Given the description of an element on the screen output the (x, y) to click on. 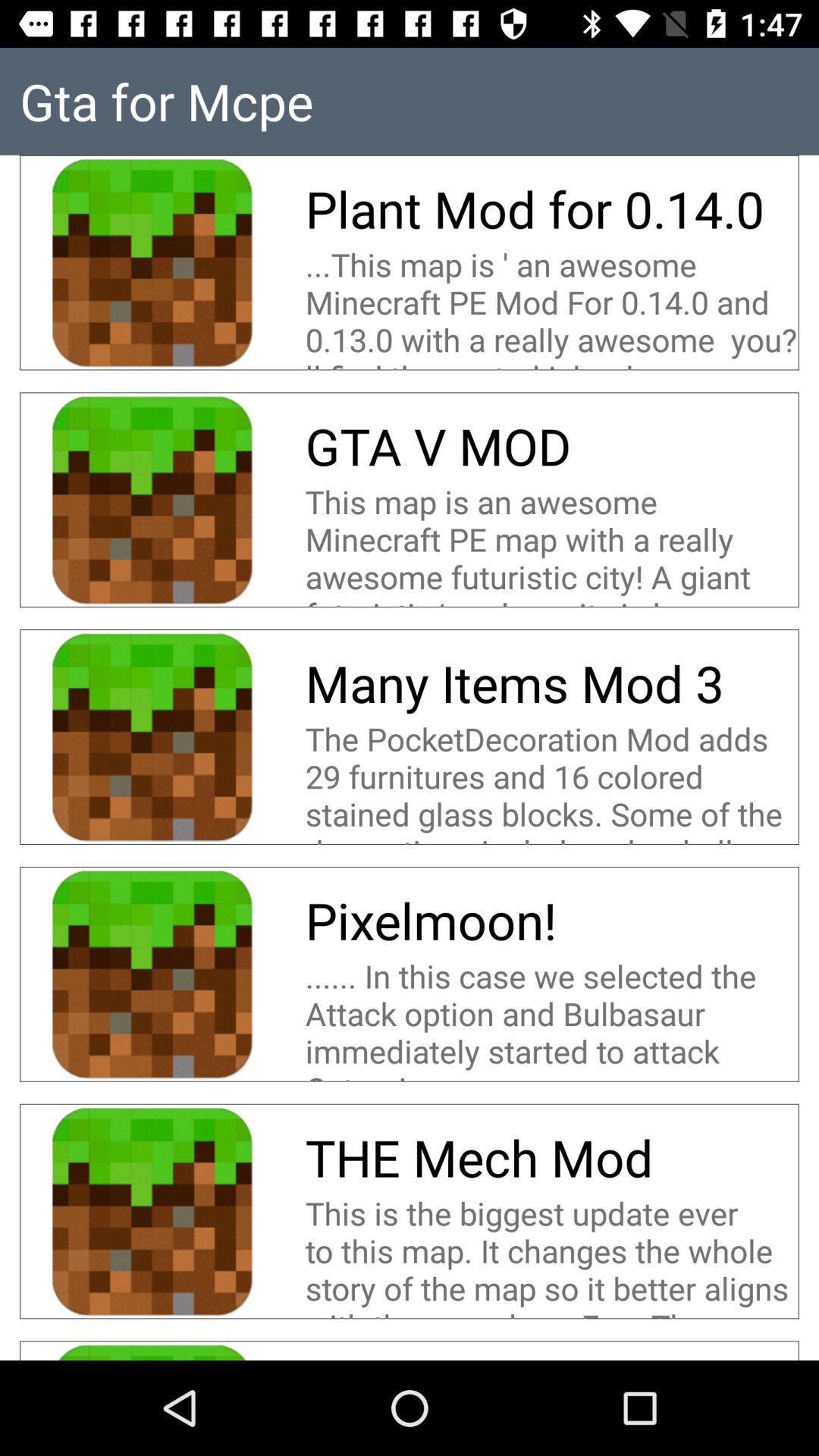
choose the pixelmoon! (430, 920)
